Given the description of an element on the screen output the (x, y) to click on. 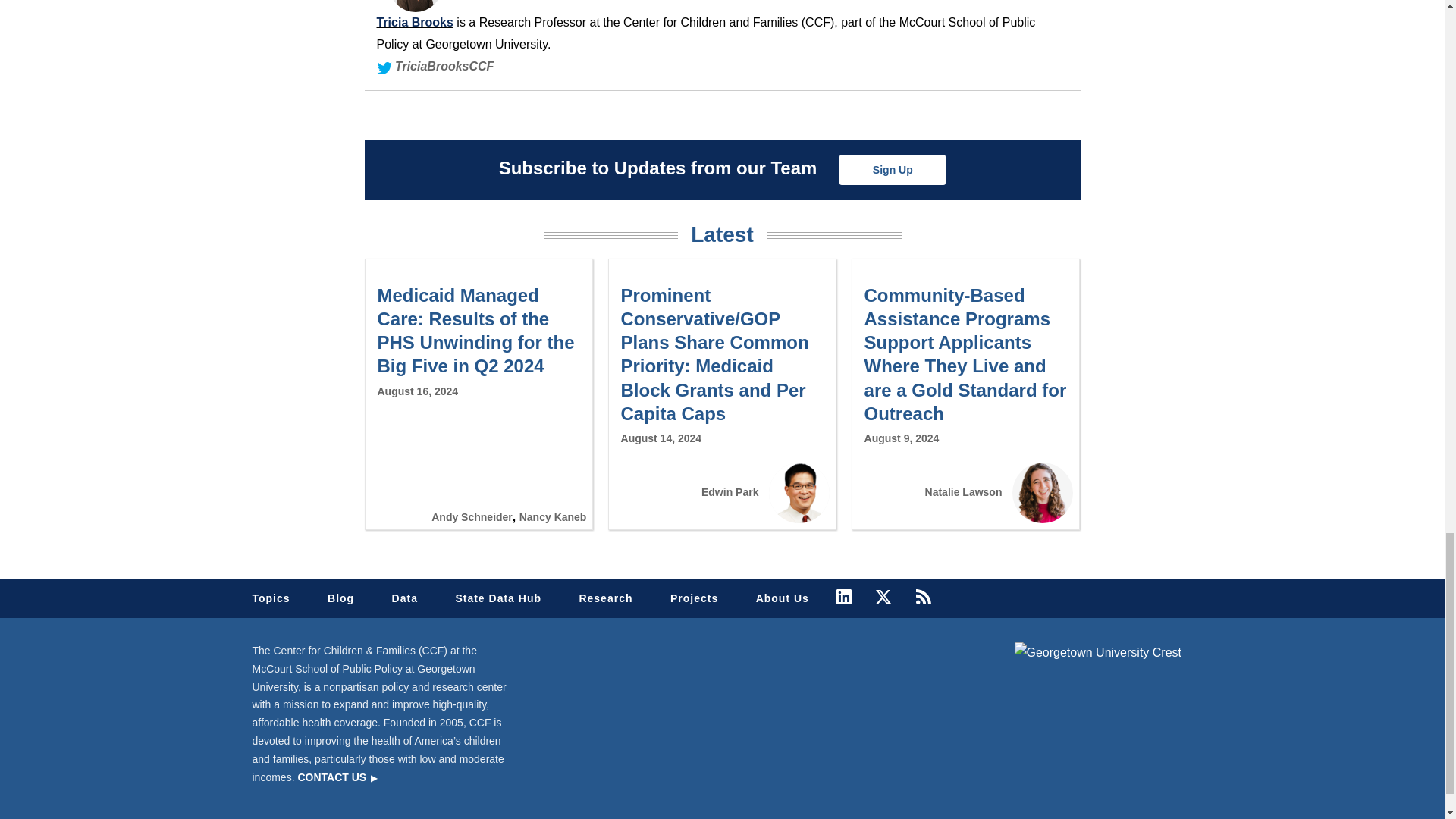
X (883, 596)
LinkedIn (843, 596)
RSS (923, 596)
